Given the description of an element on the screen output the (x, y) to click on. 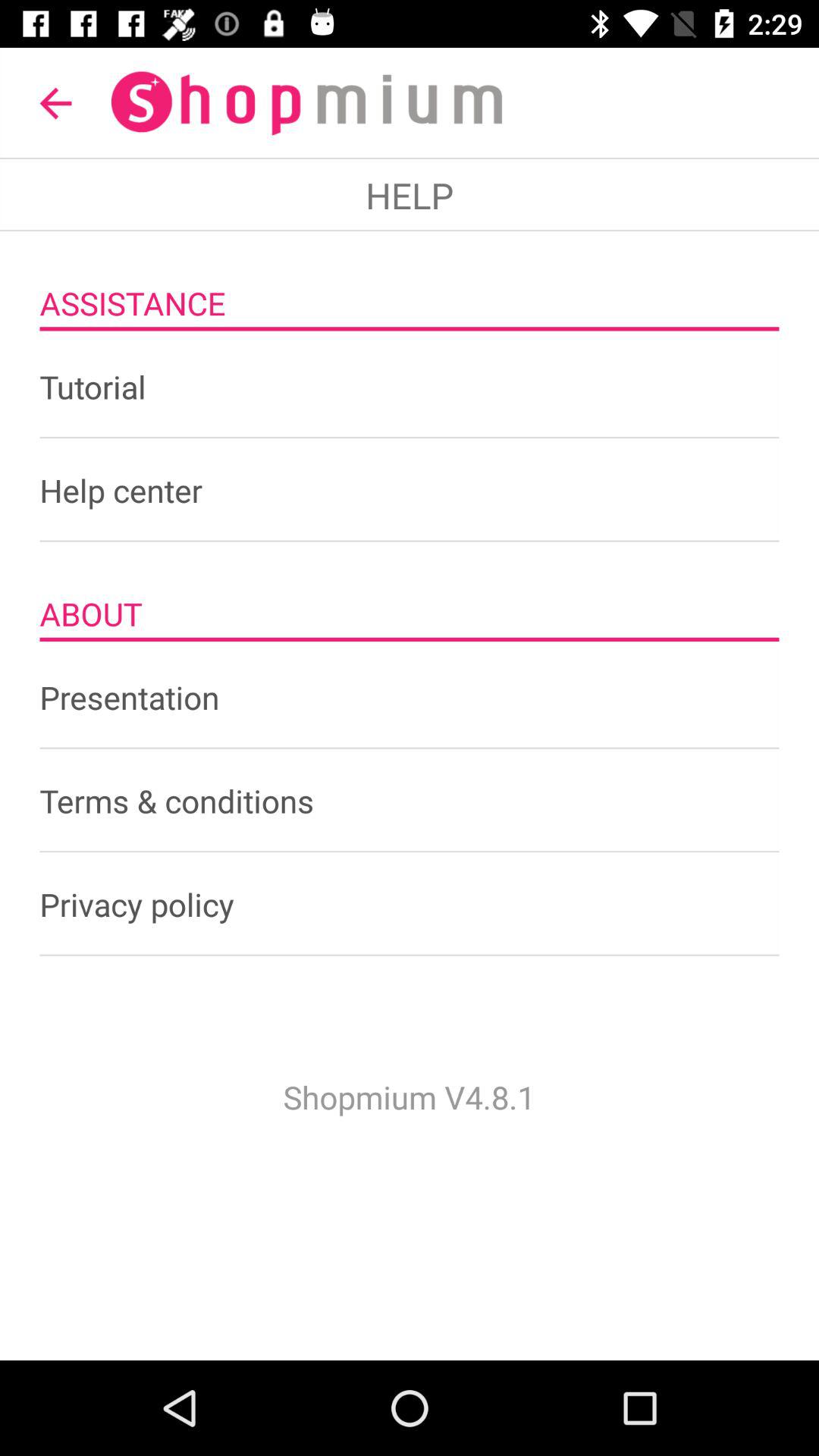
press icon at the top left corner (55, 103)
